Given the description of an element on the screen output the (x, y) to click on. 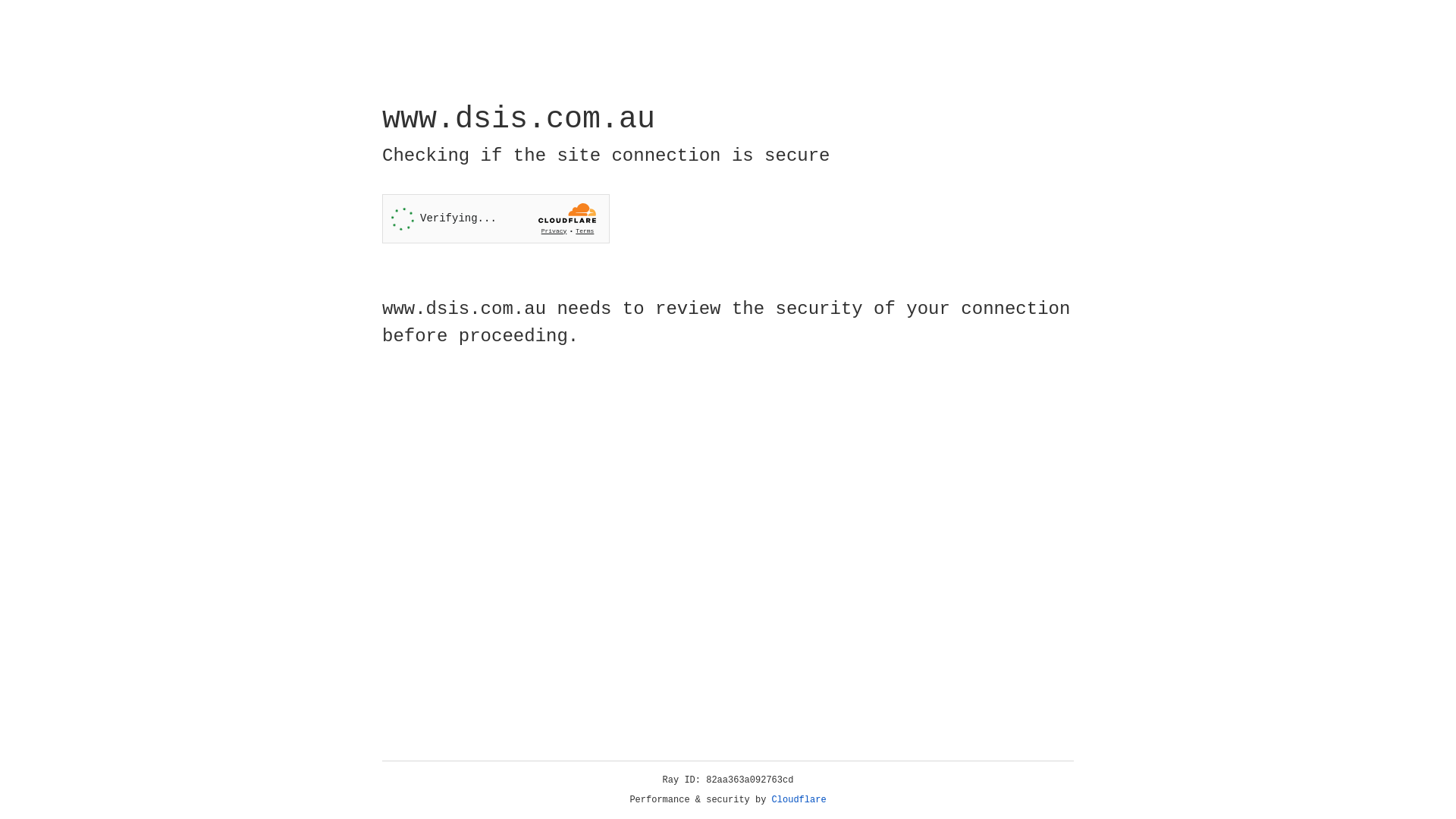
Cloudflare Element type: text (798, 799)
Widget containing a Cloudflare security challenge Element type: hover (495, 218)
